Given the description of an element on the screen output the (x, y) to click on. 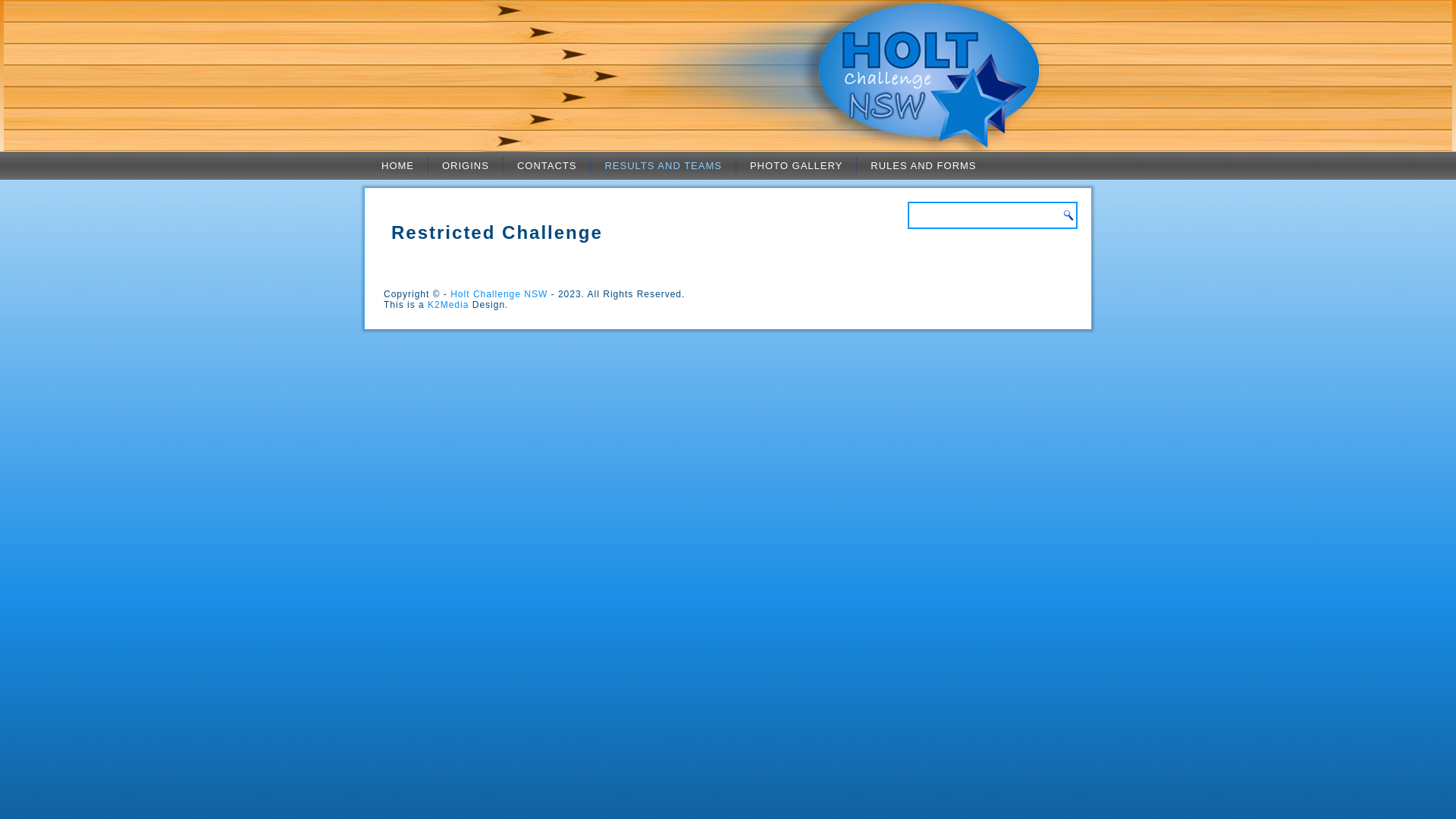
RESULTS AND TEAMS Element type: text (662, 165)
RULES AND FORMS Element type: text (922, 165)
PHOTO GALLERY Element type: text (796, 165)
ORIGINS Element type: text (465, 165)
Holt Challenge NSW Element type: text (498, 293)
HOME Element type: text (397, 165)
K2Media Element type: text (447, 304)
CONTACTS Element type: text (546, 165)
